Given the description of an element on the screen output the (x, y) to click on. 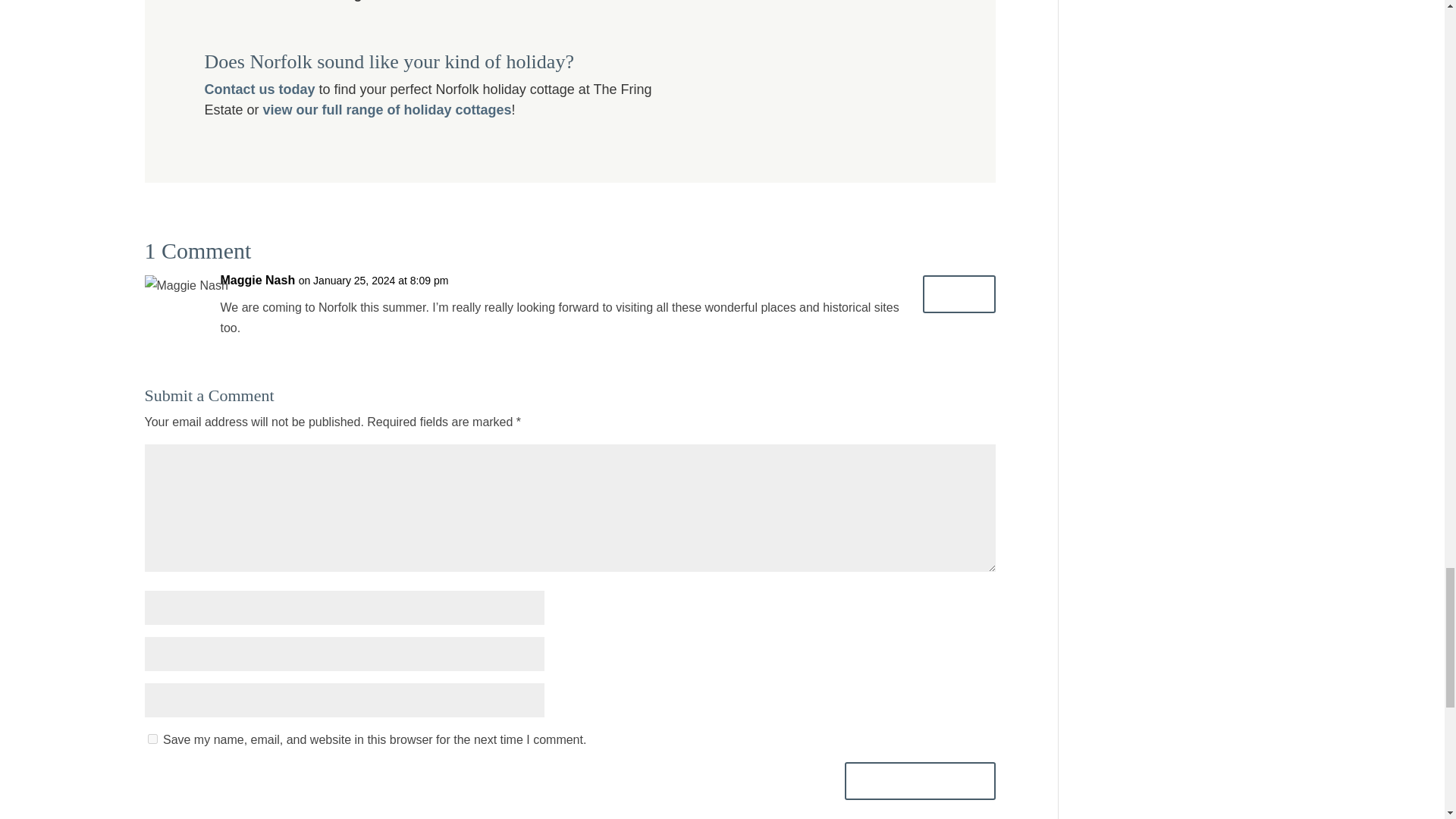
yes (152, 738)
Submit Comment (919, 781)
